Given the description of an element on the screen output the (x, y) to click on. 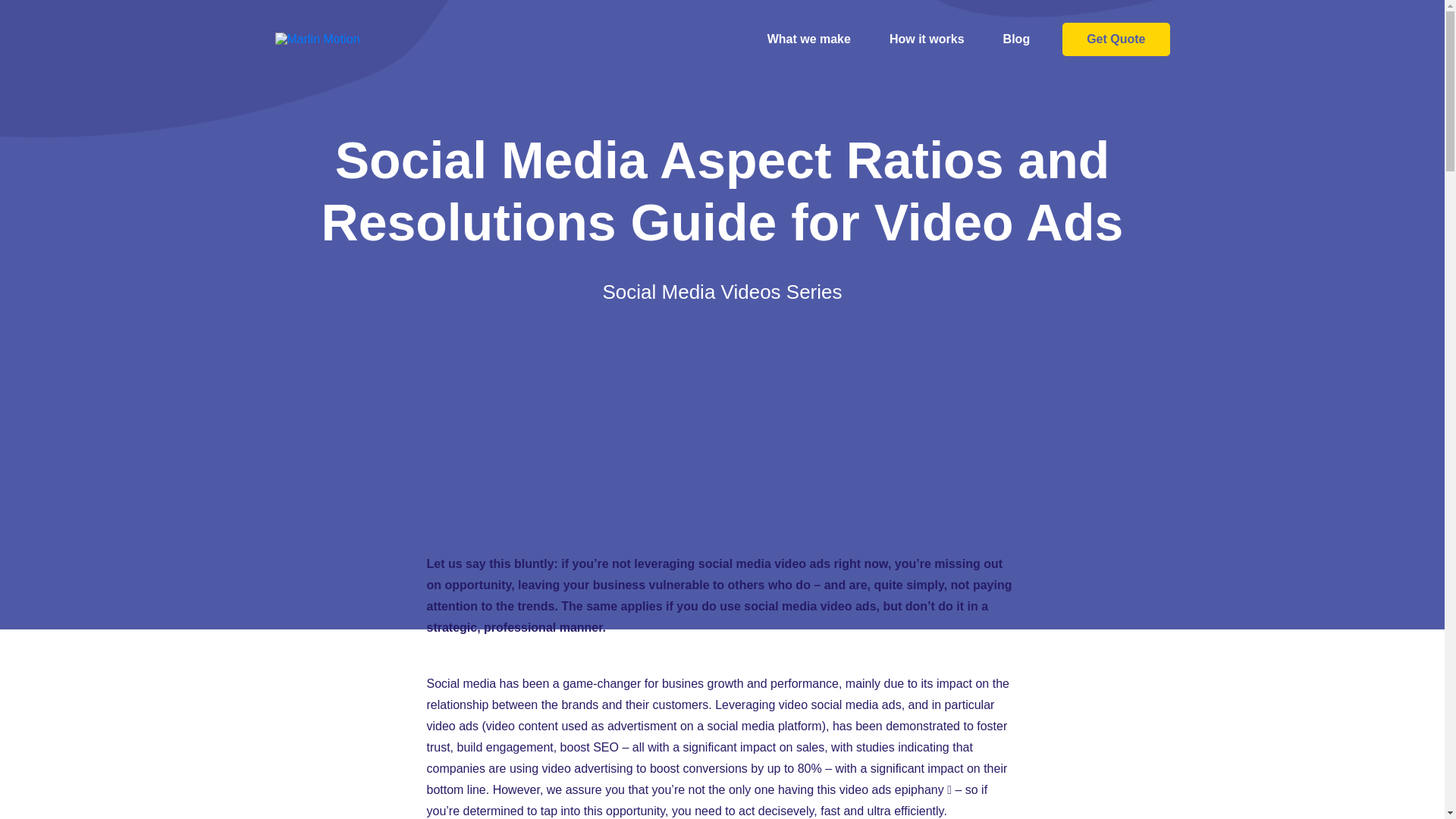
How it works (927, 39)
Blog (1016, 39)
Get Quote (1115, 39)
What we make (809, 39)
